Given the description of an element on the screen output the (x, y) to click on. 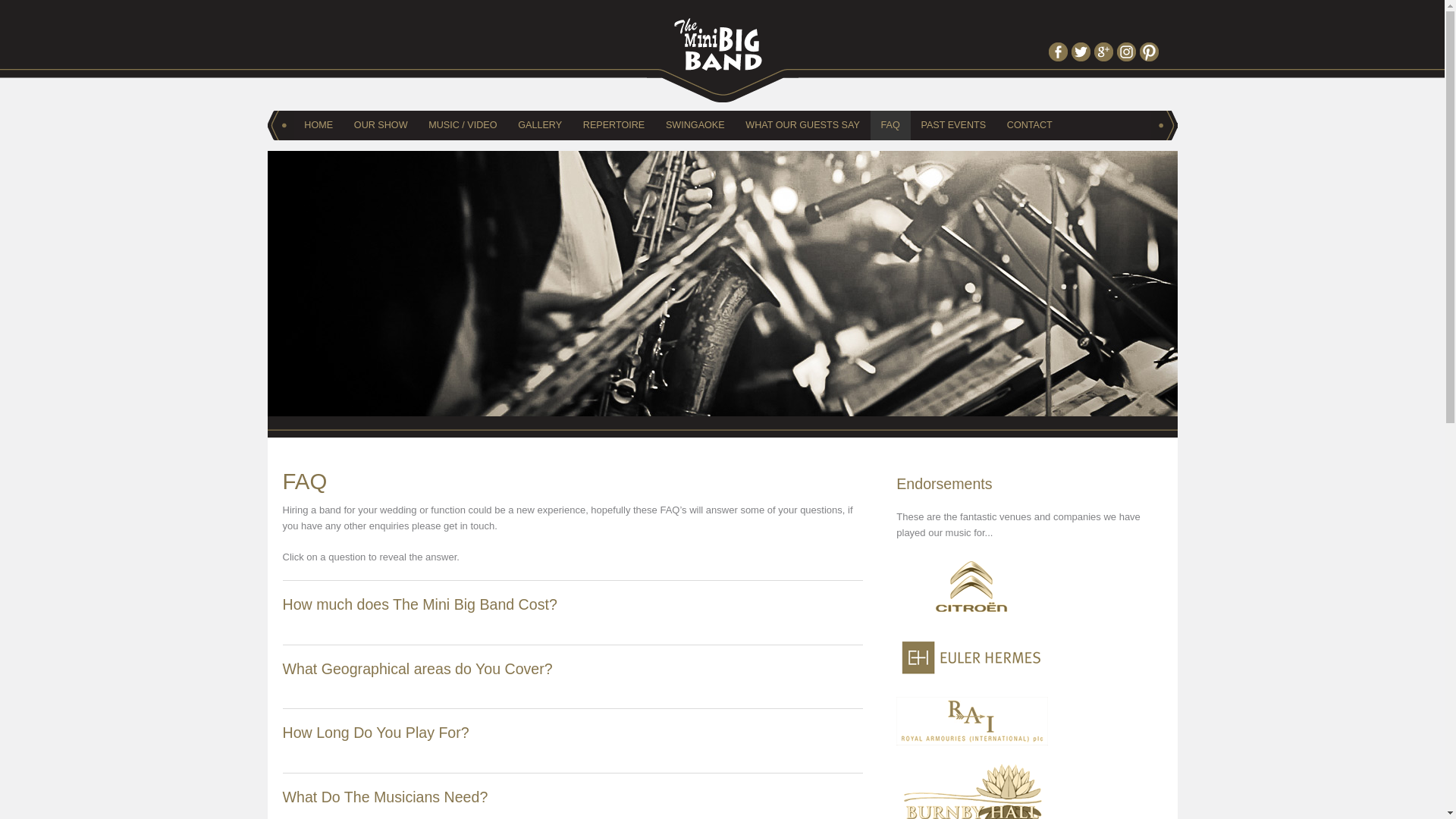
Follow Mini Big Band on Google Plus (1104, 51)
Follow Mini Big Band on Instagram (1127, 51)
Follow Mini Big Band on Pinterest (1149, 51)
PAST EVENTS (953, 125)
Follow Mini Big Band on Twitter (1081, 51)
FAQ (890, 125)
GALLERY (539, 125)
REPERTOIRE (613, 125)
HOME (318, 125)
OUR SHOW (380, 125)
